Given the description of an element on the screen output the (x, y) to click on. 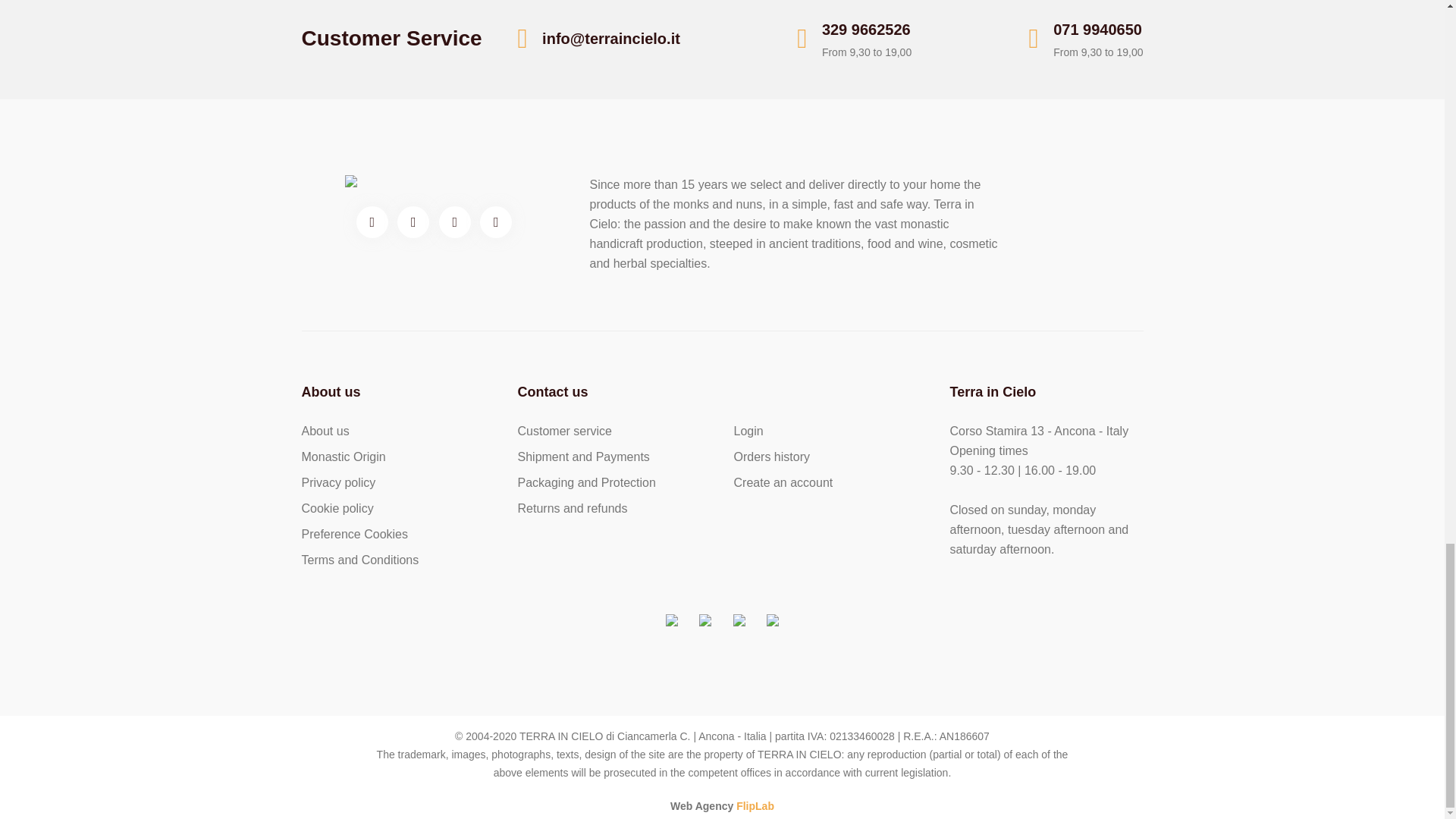
web agency FlipLab Ancona (755, 806)
